Given the description of an element on the screen output the (x, y) to click on. 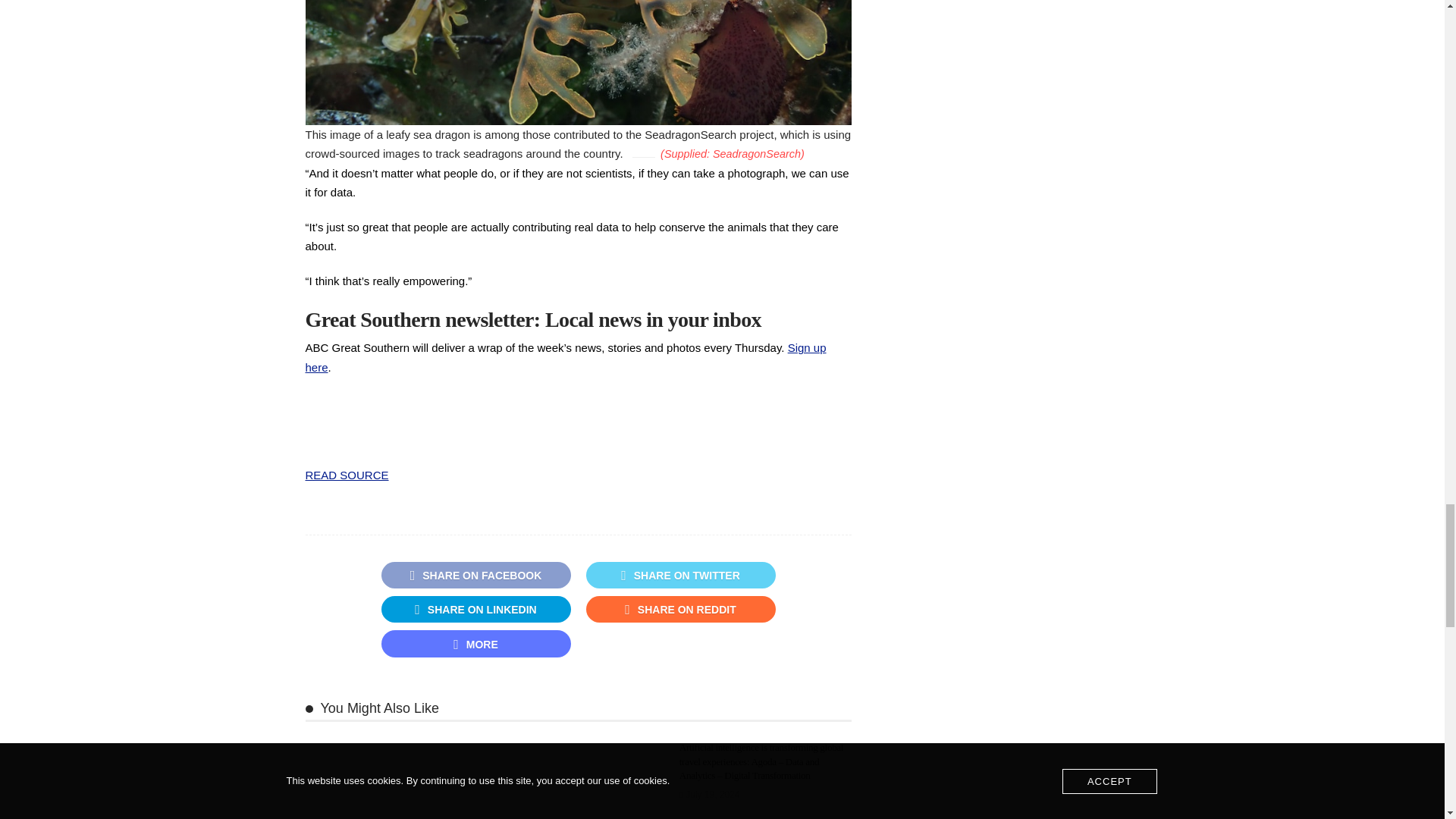
Great Southern newsletter teaser bottom (577, 342)
